Given the description of an element on the screen output the (x, y) to click on. 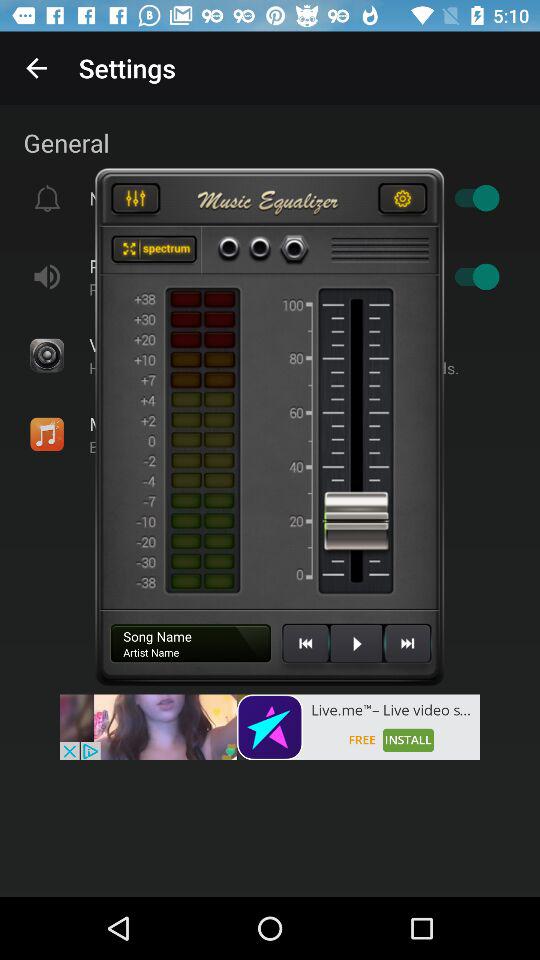
select equalizer sliders (135, 201)
